Given the description of an element on the screen output the (x, y) to click on. 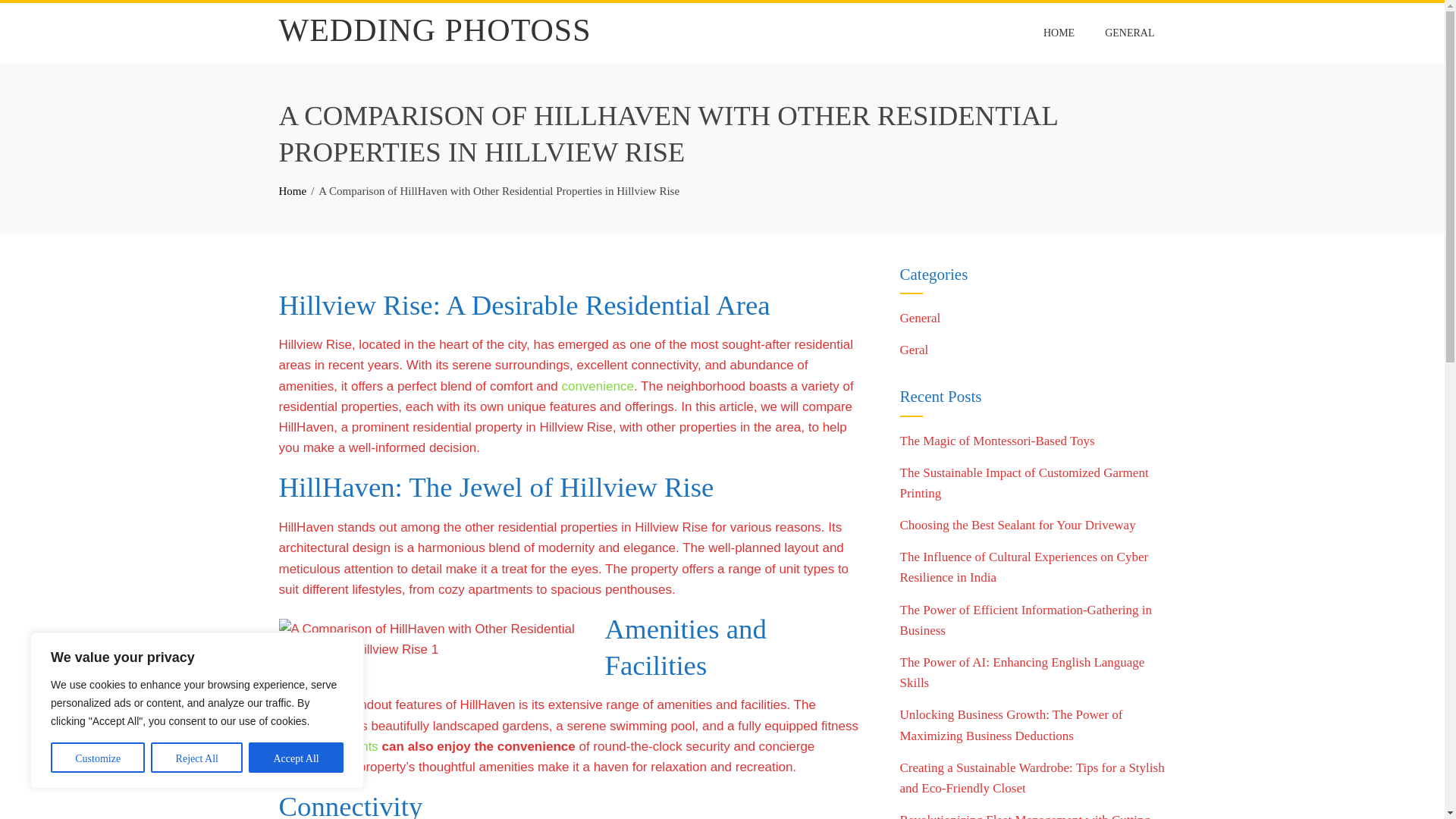
HOME (1059, 32)
GENERAL (1129, 32)
Geral (913, 350)
The Sustainable Impact of Customized Garment Printing (1023, 483)
WEDDING PHOTOSS (435, 30)
Reject All (197, 757)
Residents (349, 746)
The Power of Efficient Information-Gathering in Business (1025, 620)
The Magic of Montessori-Based Toys (996, 440)
convenience (596, 386)
Customize (97, 757)
General (919, 318)
